Given the description of an element on the screen output the (x, y) to click on. 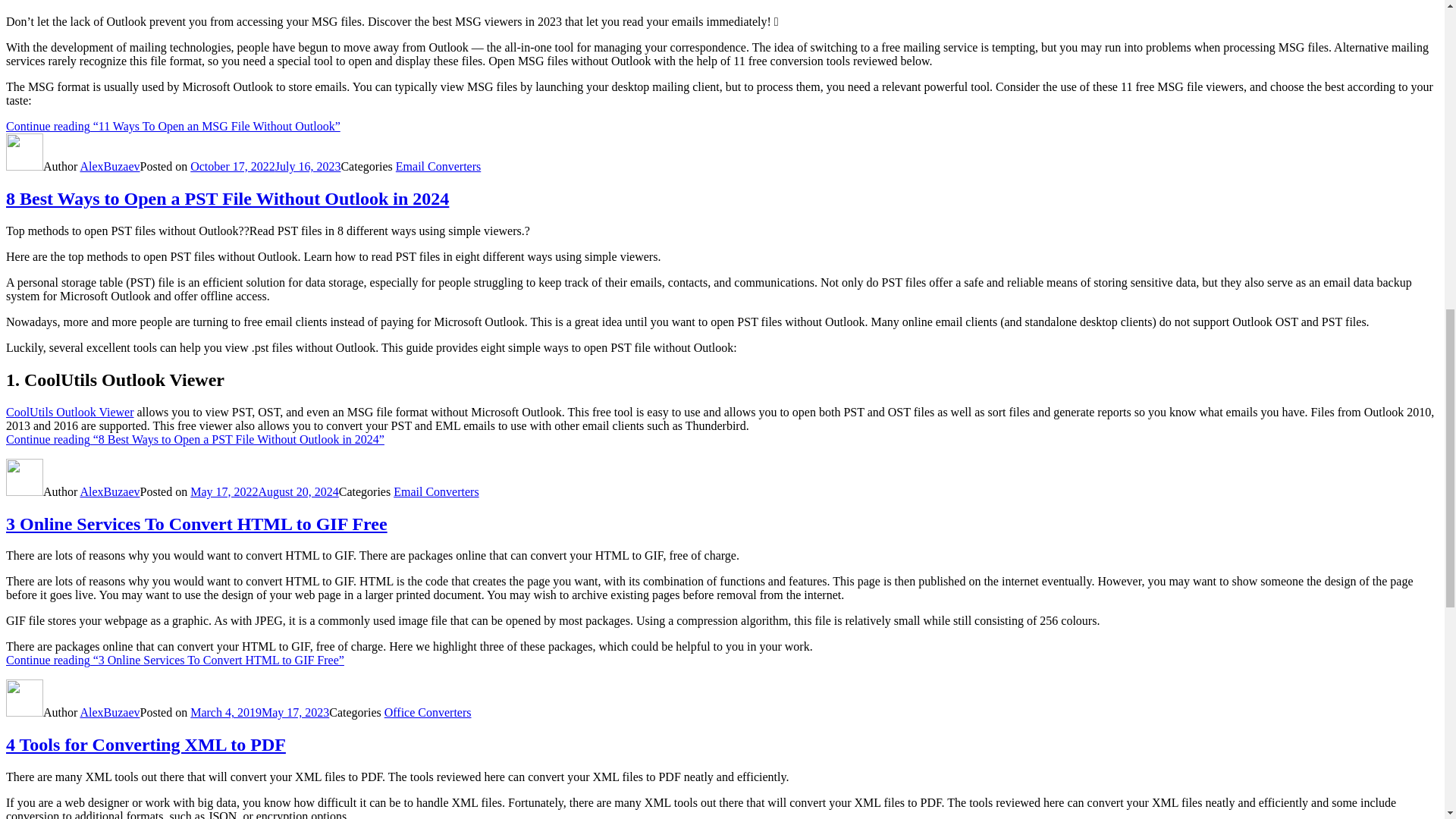
4 Tools for Converting XML to PDF (145, 744)
March 4, 2019May 17, 2023 (259, 712)
3 Online Services To Convert HTML to GIF Free (196, 523)
Email Converters (438, 165)
8 Best Ways to Open a PST File Without Outlook in 2024 (226, 198)
October 17, 2022July 16, 2023 (265, 165)
Email Converters (436, 491)
AlexBuzaev (109, 165)
CoolUtils Outlook Viewer (69, 411)
May 17, 2022August 20, 2024 (264, 491)
